Given the description of an element on the screen output the (x, y) to click on. 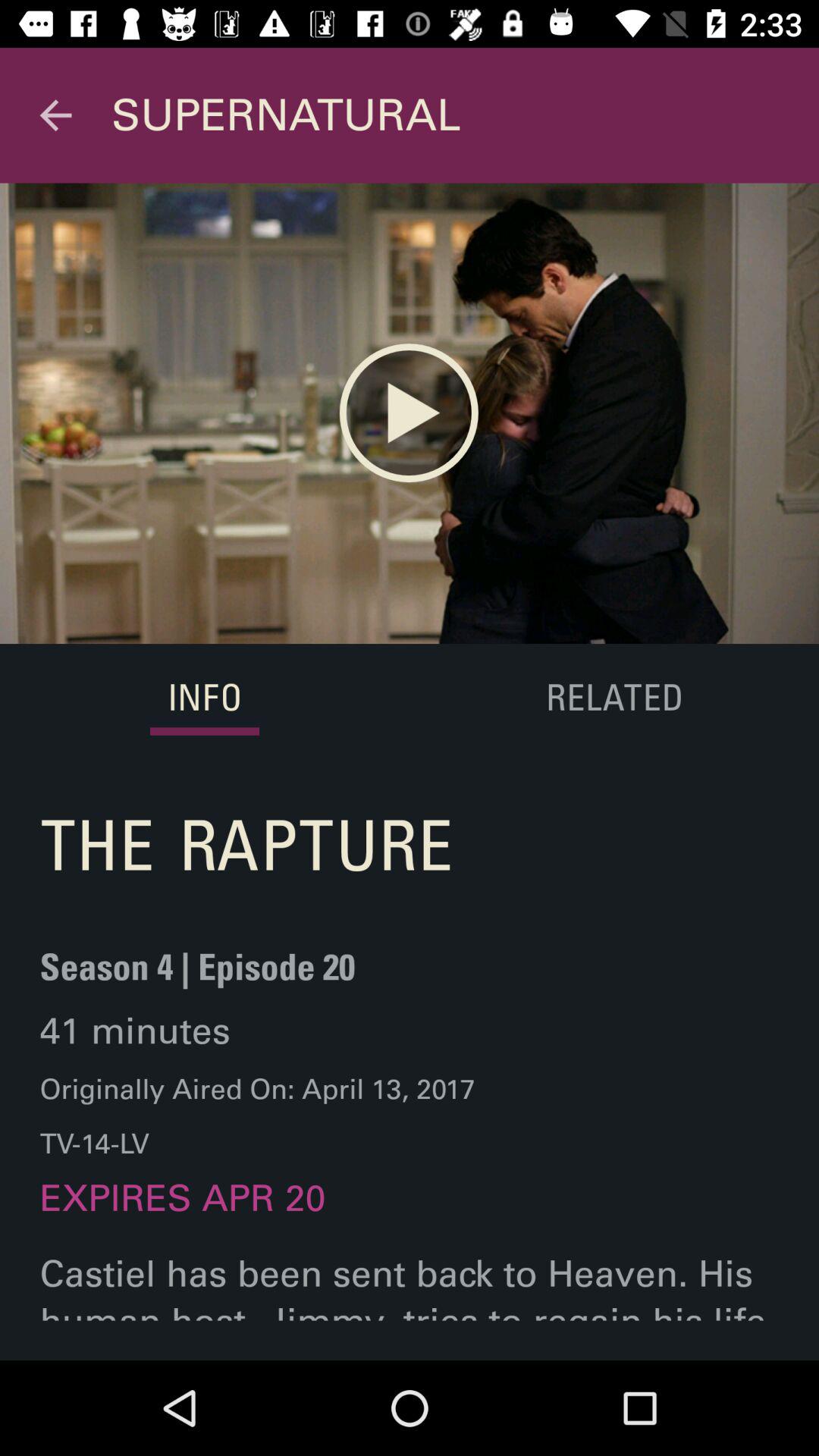
select the item above the 41 minutes (196, 976)
